Given the description of an element on the screen output the (x, y) to click on. 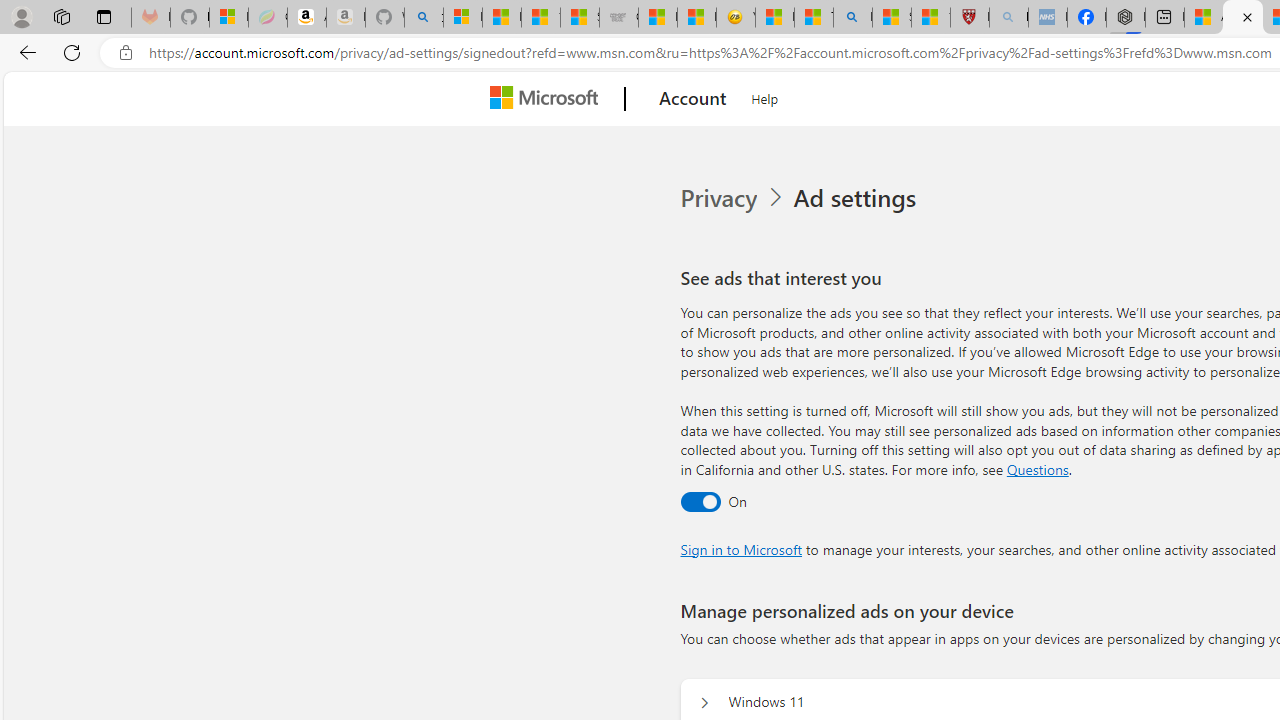
Microsoft (548, 99)
Ad settings (858, 197)
Manage personalized ads on your device Windows 11 (704, 702)
Help (765, 96)
Ad settings toggle (699, 501)
